Given the description of an element on the screen output the (x, y) to click on. 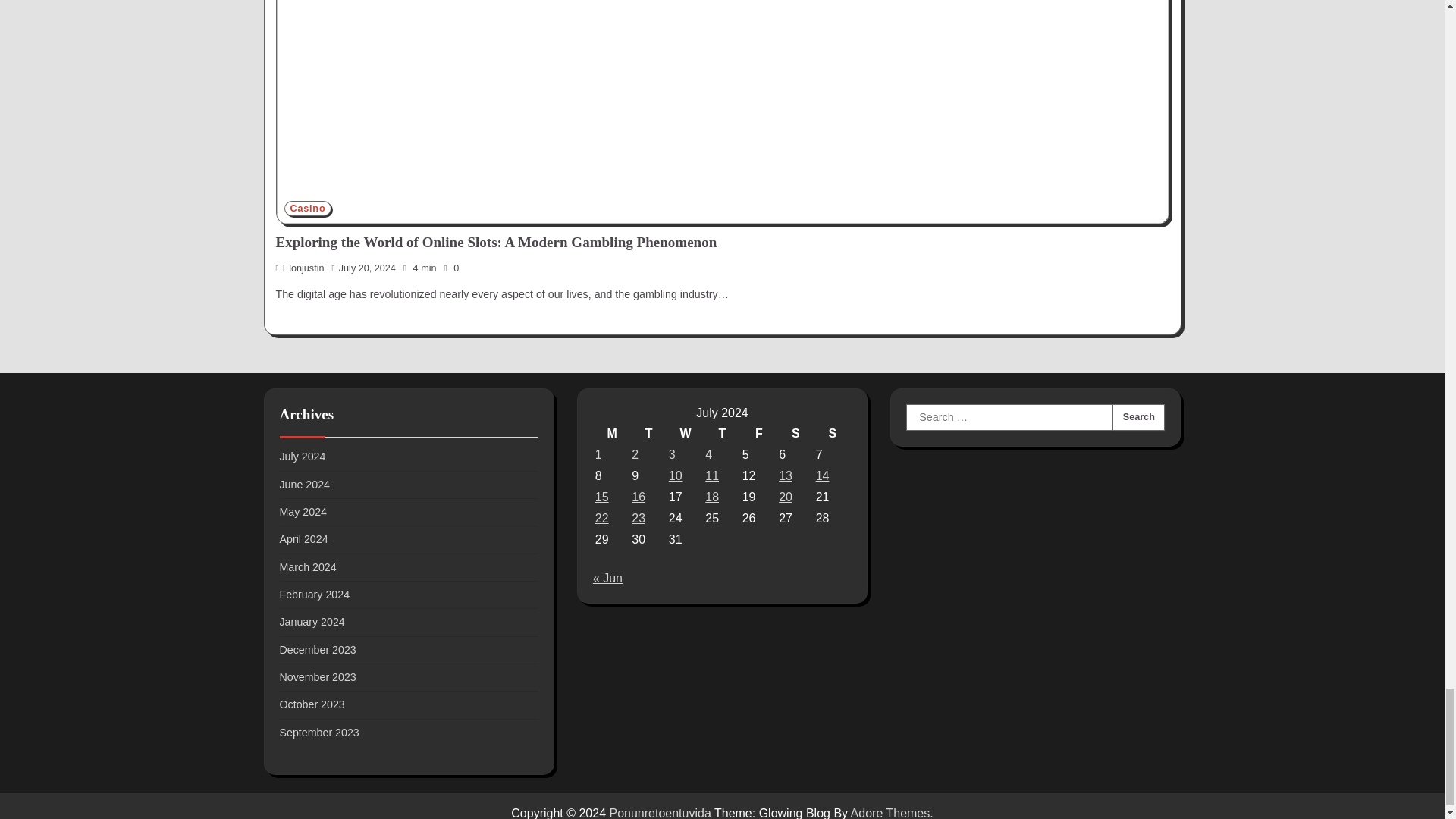
Sunday (832, 433)
Search (1138, 417)
Wednesday (685, 433)
Saturday (794, 433)
Search (1138, 417)
Tuesday (647, 433)
Monday (611, 433)
Friday (758, 433)
Thursday (721, 433)
